Given the description of an element on the screen output the (x, y) to click on. 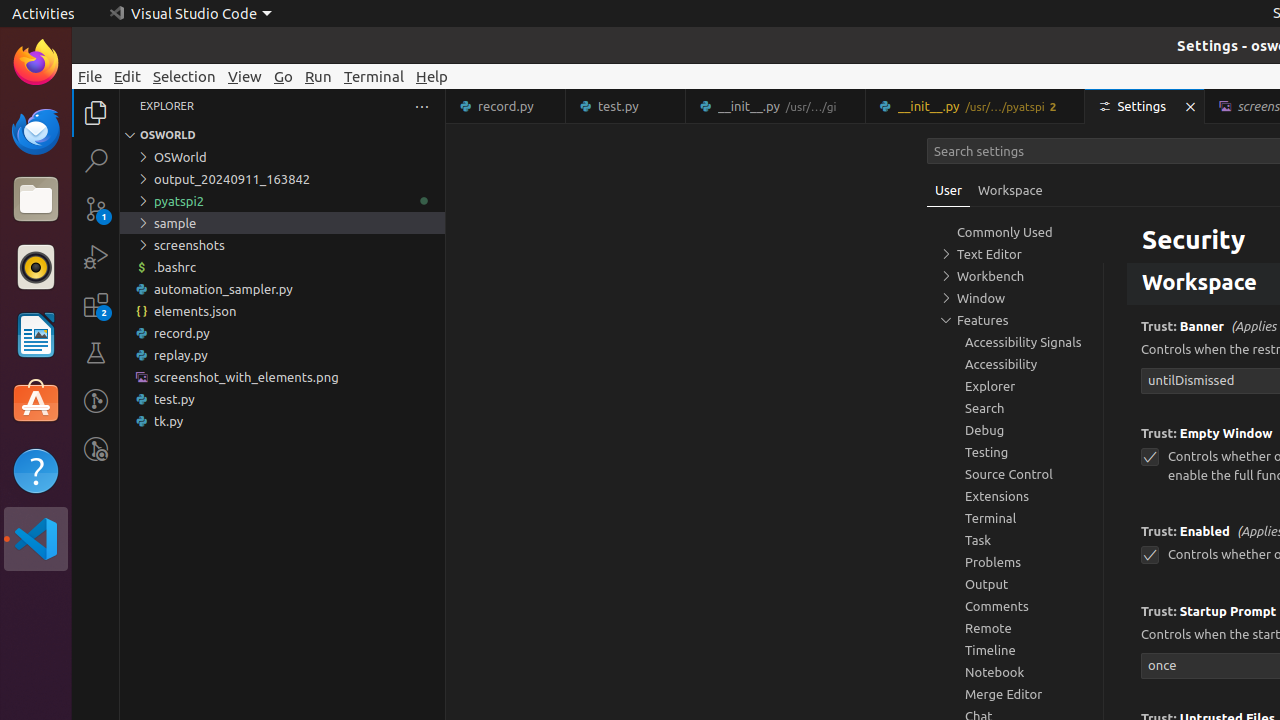
Explorer (Ctrl+Shift+E) Element type: page-tab (96, 113)
.bashrc Element type: tree-item (282, 267)
Commonly Used, group Element type: tree-item (1015, 232)
Firefox Web Browser Element type: push-button (36, 63)
Remote, group Element type: tree-item (1015, 628)
